Given the description of an element on the screen output the (x, y) to click on. 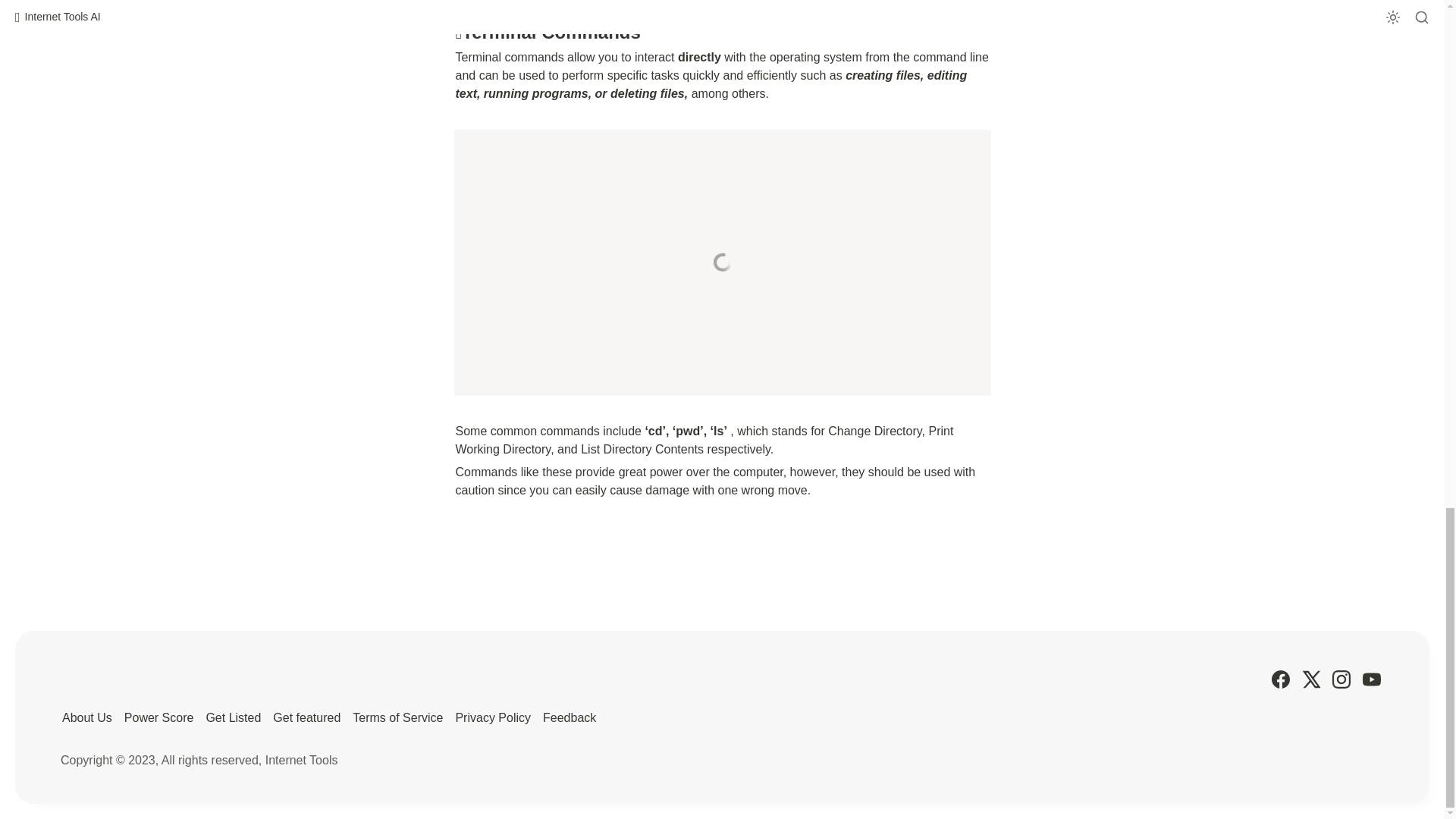
About Us (87, 718)
Instagram (1341, 679)
www.youtube.com (721, 262)
Terms of Service (397, 718)
X (1310, 679)
Power Score (158, 718)
Facebook (1280, 679)
Instagram (1341, 679)
Privacy Policy (492, 718)
Get Listed (232, 718)
